Given the description of an element on the screen output the (x, y) to click on. 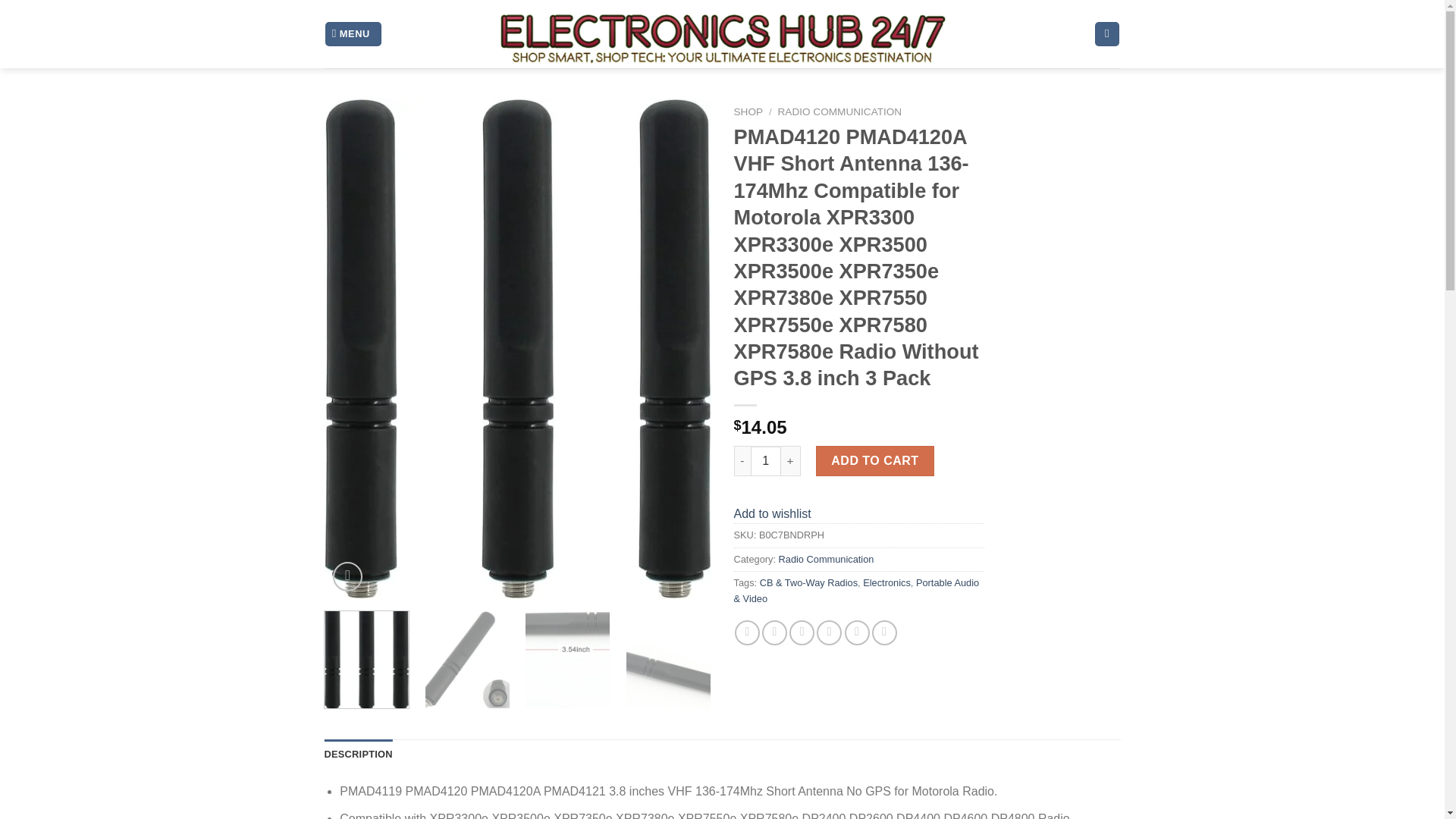
ADD TO CART (874, 460)
Zoom (347, 576)
1 (765, 460)
Share on X (774, 632)
Electronics (887, 582)
Share on LinkedIn (856, 632)
MENU (352, 34)
Add to wishlist (771, 513)
DESCRIPTION (358, 754)
RADIO COMMUNICATION (839, 111)
Share on Telegram (884, 632)
Radio Communication (826, 559)
Email to a Friend (828, 632)
Share on Facebook (747, 632)
